Given the description of an element on the screen output the (x, y) to click on. 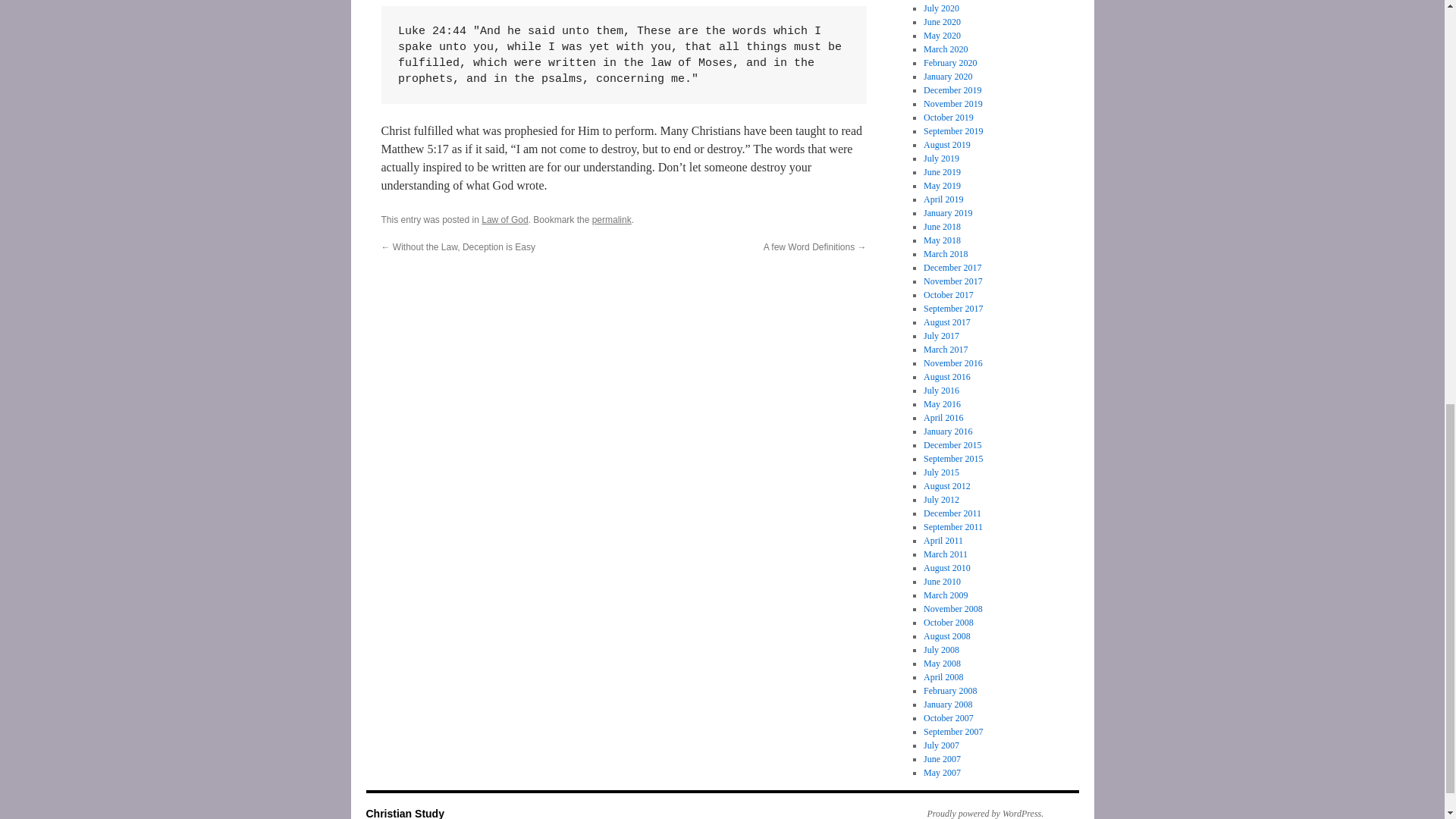
Law of God (504, 219)
Permalink to Old vs New (611, 219)
permalink (611, 219)
